Given the description of an element on the screen output the (x, y) to click on. 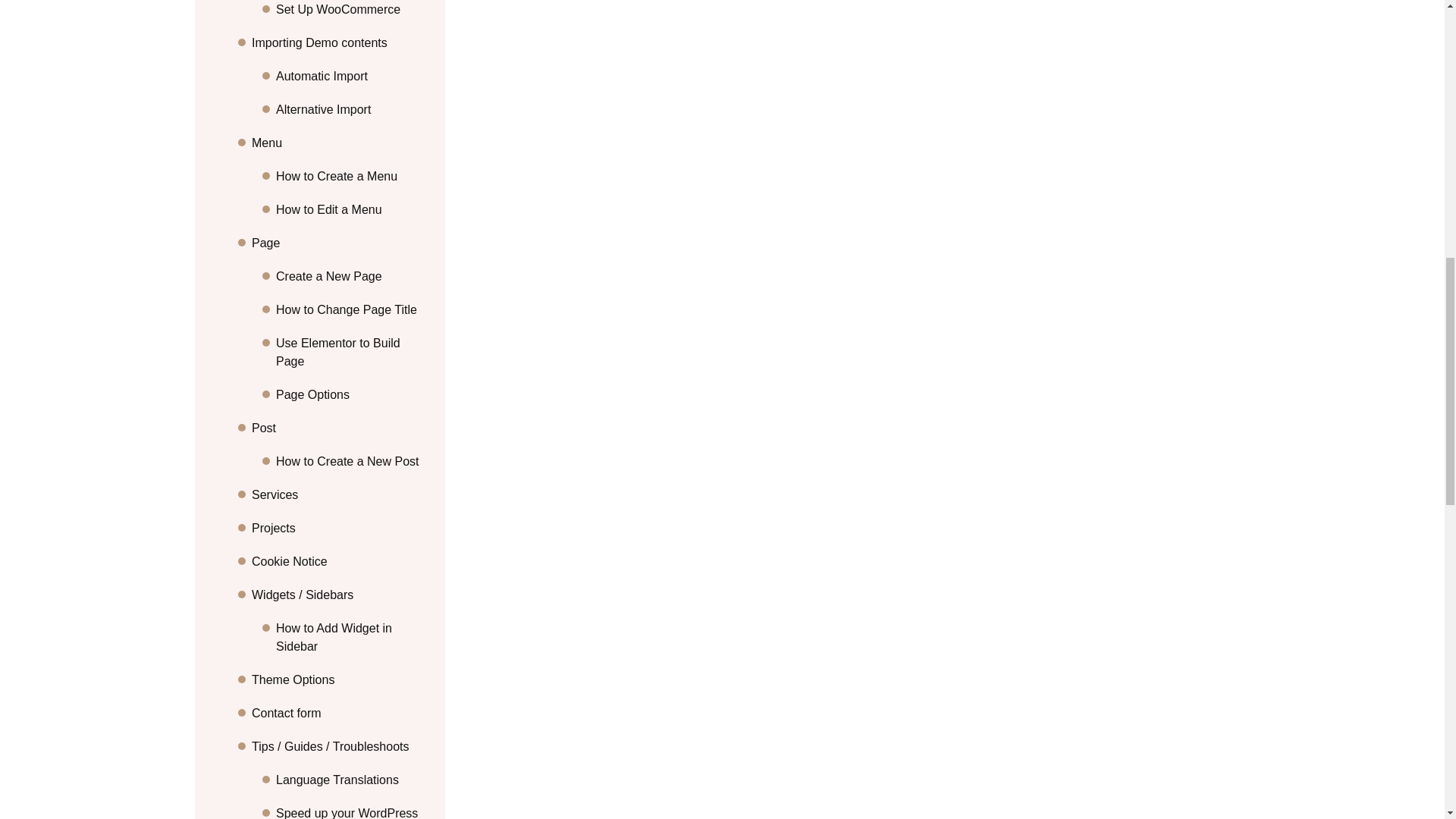
Alternative Import (351, 109)
Set Up WooCommerce (351, 9)
Create a New Page (351, 276)
Page Options (351, 394)
How to Create a Menu (351, 176)
Page (338, 243)
Menu (338, 143)
Importing Demo contents (338, 43)
Projects (338, 528)
Services (338, 495)
How to Change Page Title (351, 310)
Post (338, 428)
How to Edit a Menu (351, 209)
Automatic Import (351, 76)
Cookie Notice (338, 561)
